Given the description of an element on the screen output the (x, y) to click on. 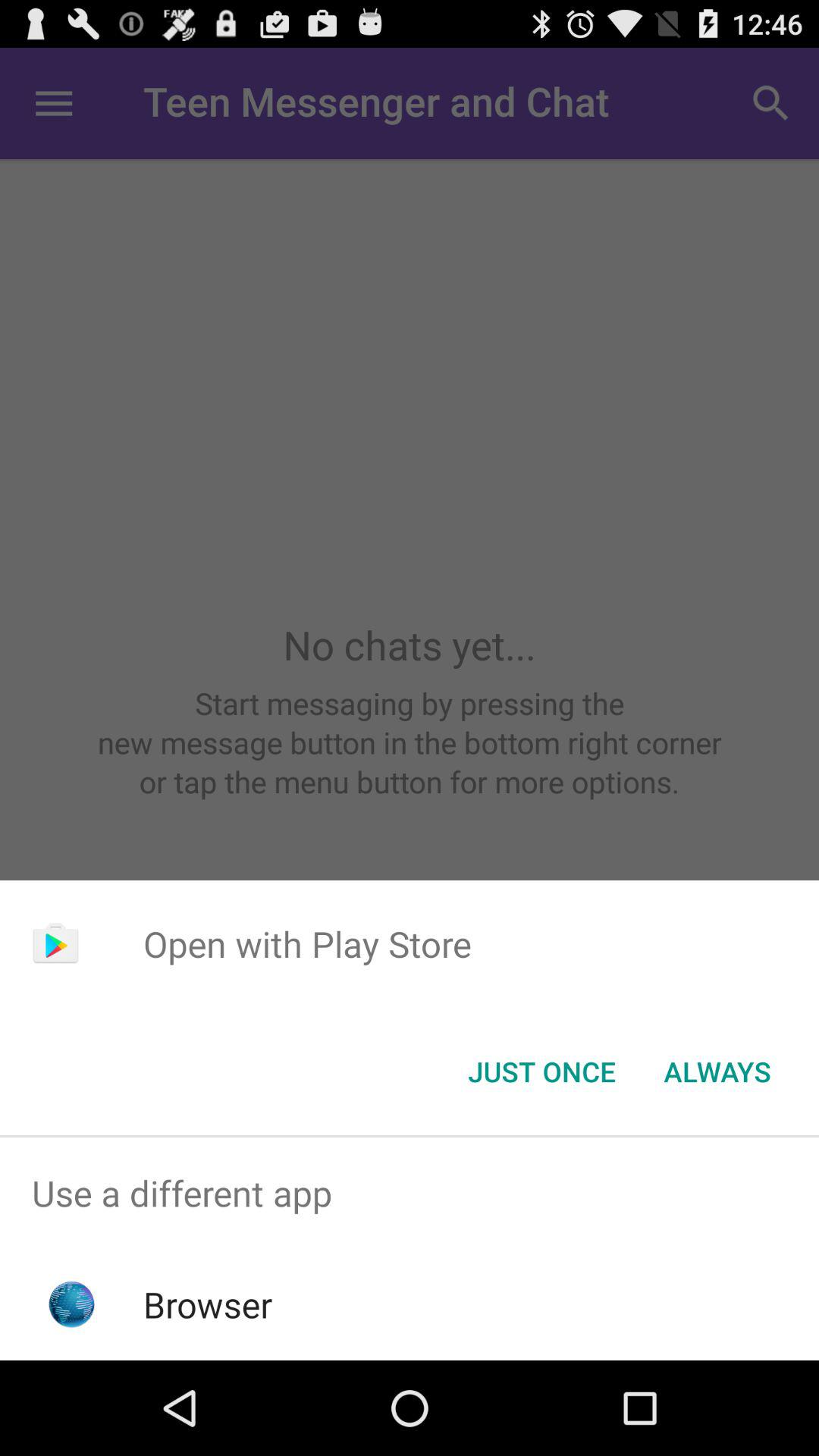
launch item below use a different item (207, 1304)
